Given the description of an element on the screen output the (x, y) to click on. 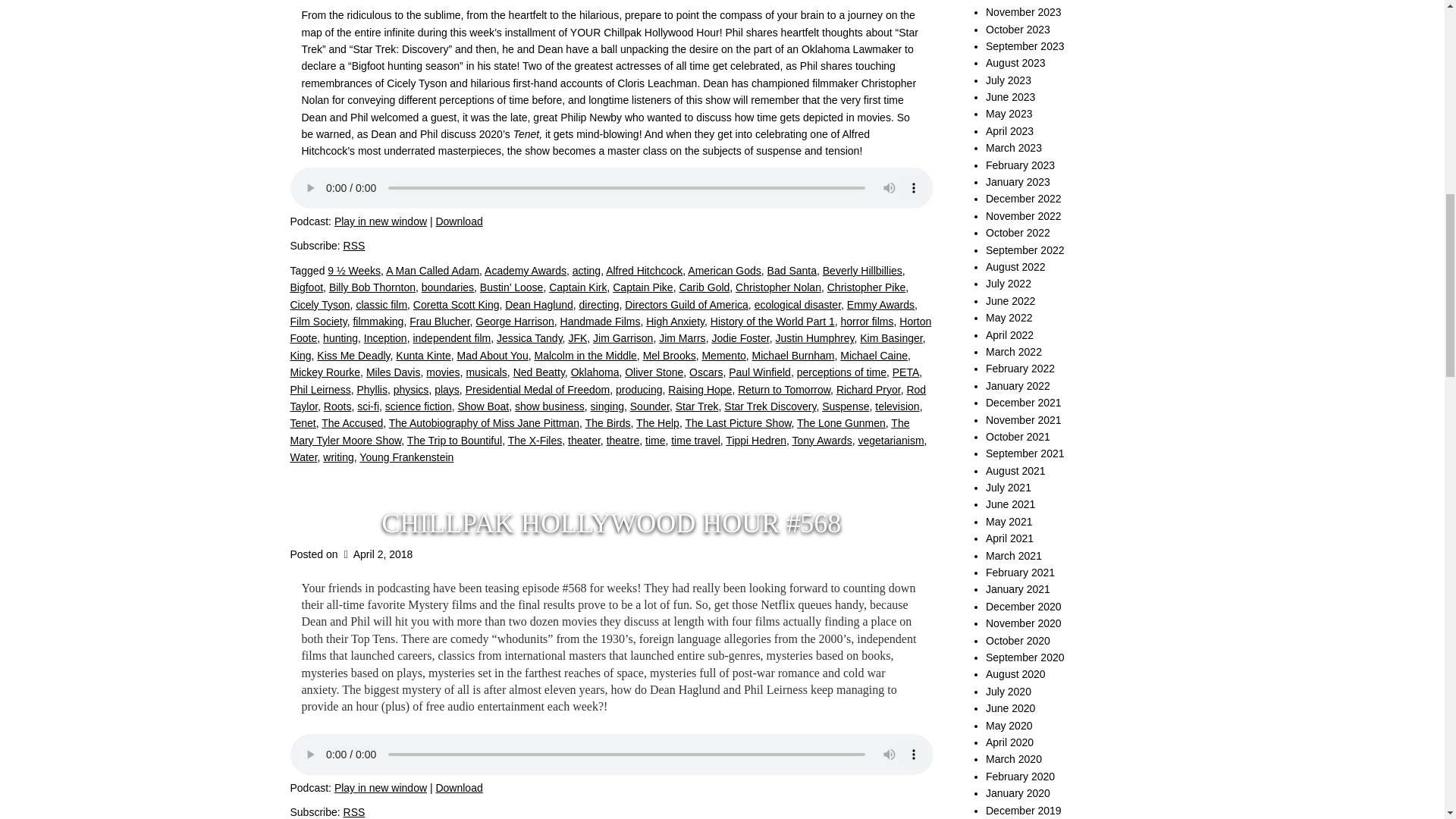
Beverly Hillbillies (862, 270)
Academy Awards (525, 270)
Film Society (317, 321)
American Gods (723, 270)
Bigfoot (306, 287)
A Man Called Adam (432, 270)
Captain Pike (642, 287)
boundaries (448, 287)
classic film (381, 304)
Subscribe via RSS (354, 811)
Cicely Tyson (319, 304)
RSS (354, 245)
Billy Bob Thornton (371, 287)
Coretta Scott King (456, 304)
Dean Haglund (539, 304)
